Given the description of an element on the screen output the (x, y) to click on. 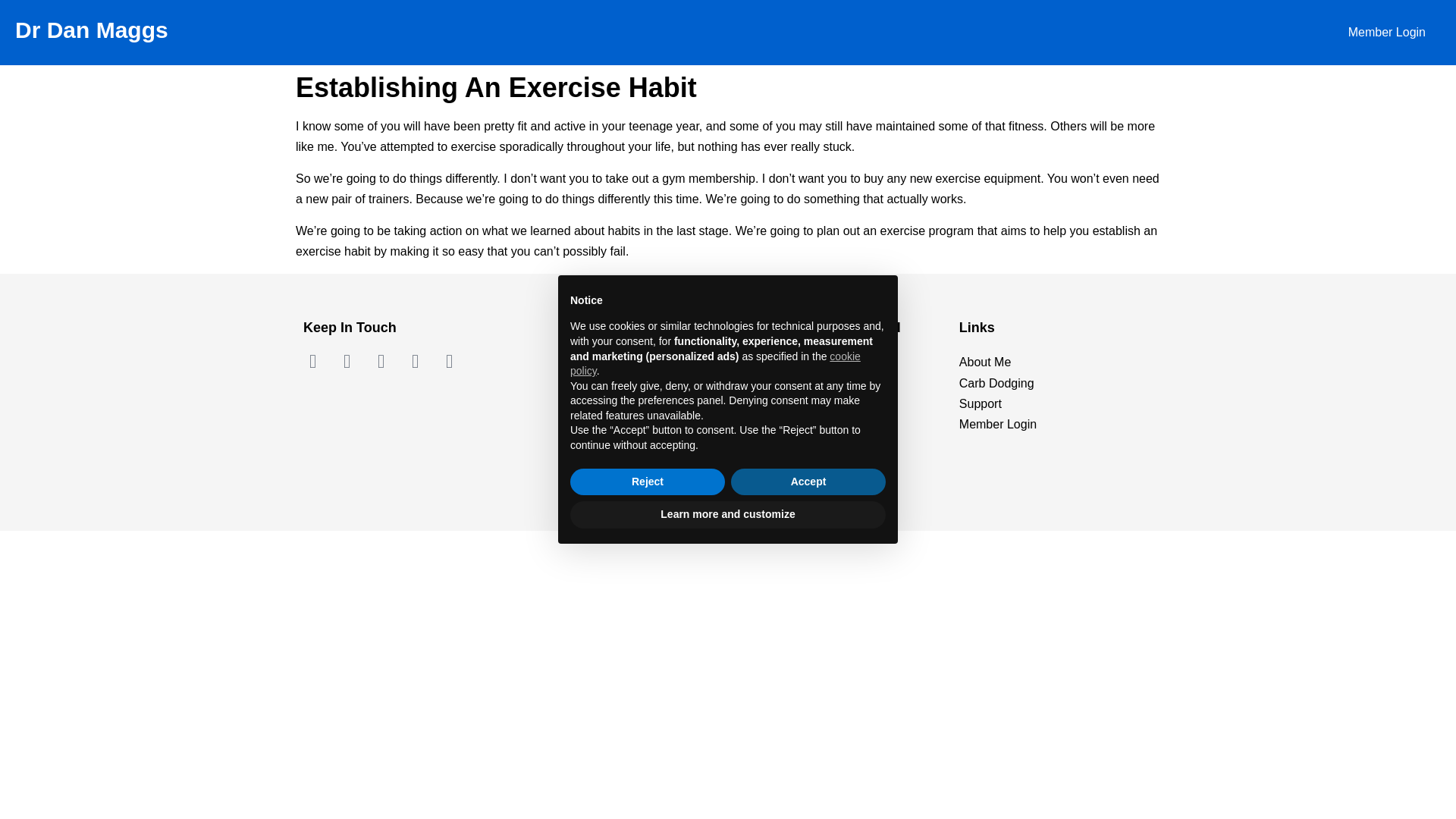
Member Login (1387, 32)
cookie policy (715, 363)
Dr Dan Maggs (91, 29)
Carb Dodging (1056, 383)
About Me (1056, 362)
Member Login (1056, 424)
Support (1056, 403)
Reject (647, 482)
Learn more and customize (727, 514)
Accept (807, 482)
